Given the description of an element on the screen output the (x, y) to click on. 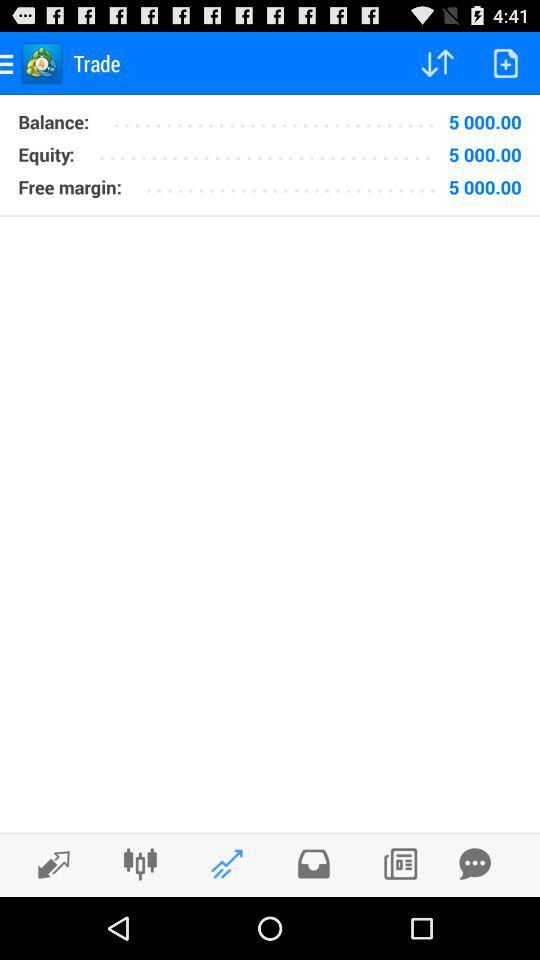
app settings (140, 863)
